Given the description of an element on the screen output the (x, y) to click on. 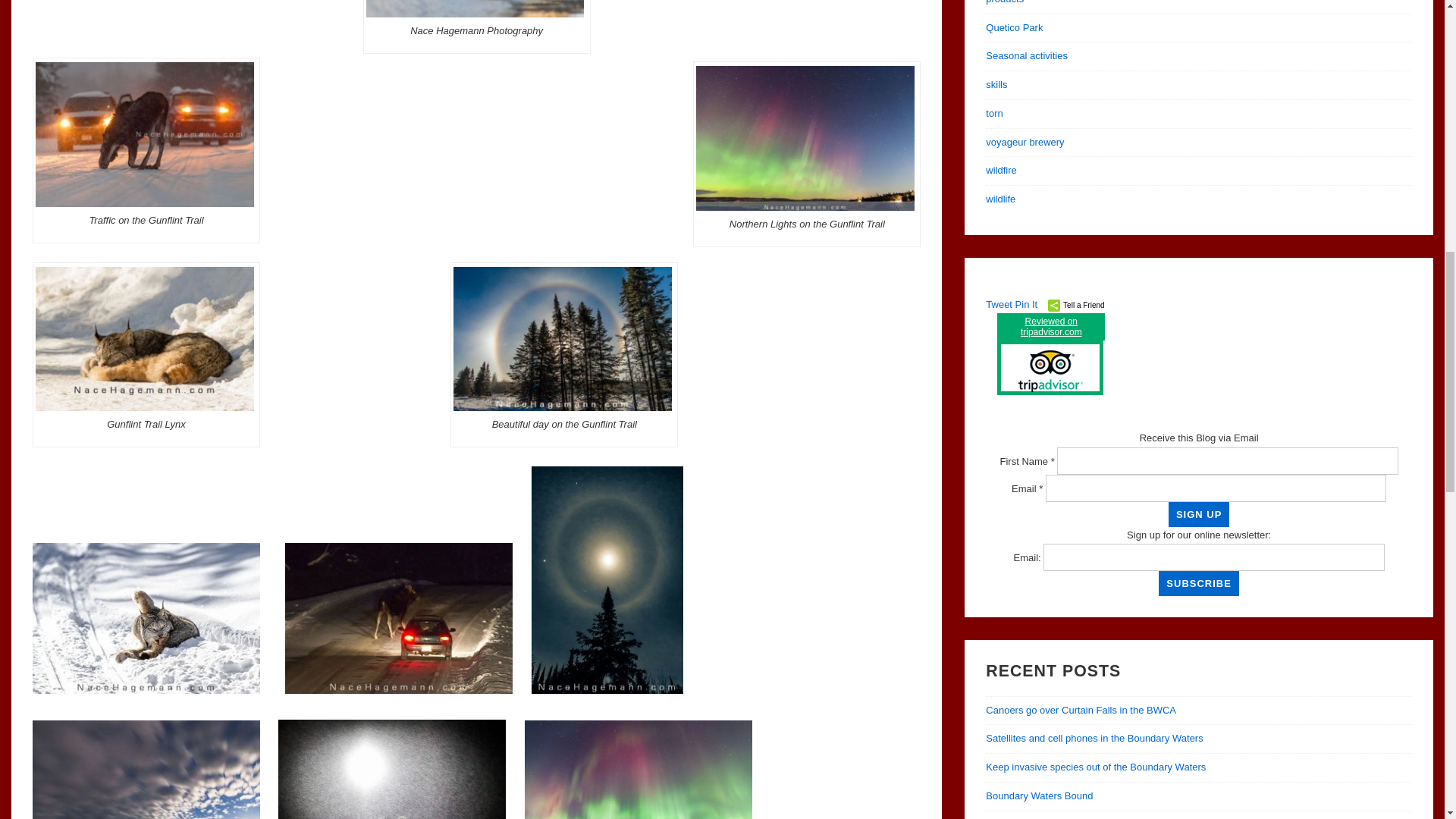
Sun dog on the Gunflint Trail (561, 338)
Sign Up (1198, 514)
Subscribe (1198, 583)
Northern Lights on the Gunflint Trail (804, 138)
Nace Hagemann traffic on the Gunflint Trail (143, 134)
Lynx on the Gunflint Trail (475, 8)
Lynx on the Gunflint Trail (143, 338)
